Given the description of an element on the screen output the (x, y) to click on. 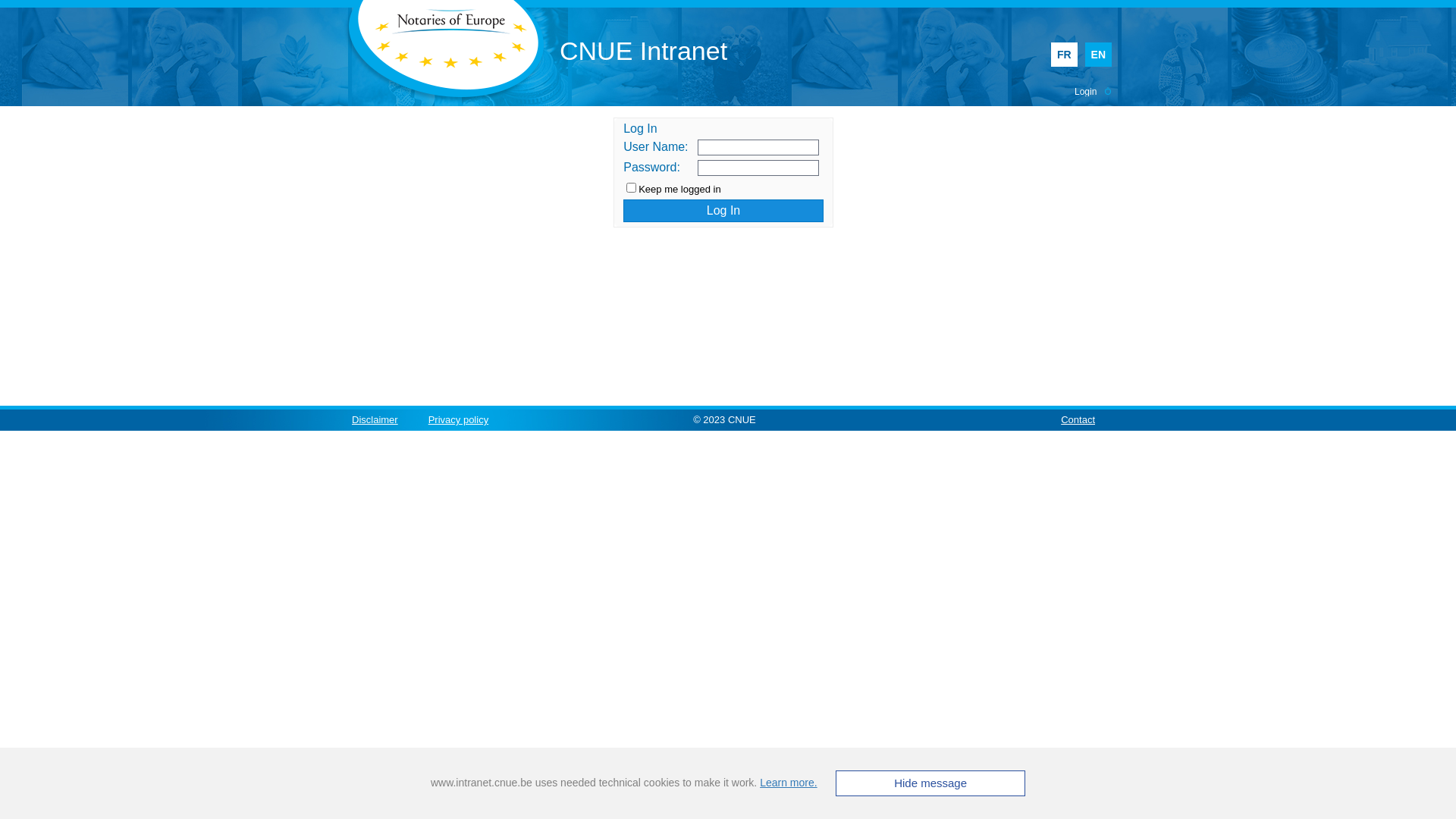
EN Element type: text (1098, 54)
Learn more. Element type: text (787, 782)
Hide message Element type: text (930, 783)
Contact Element type: text (1077, 419)
Login Element type: text (1085, 91)
Log In Element type: text (723, 210)
FR Element type: text (1064, 54)
Privacy policy Element type: text (458, 419)
Disclaimer Element type: text (374, 419)
